Given the description of an element on the screen output the (x, y) to click on. 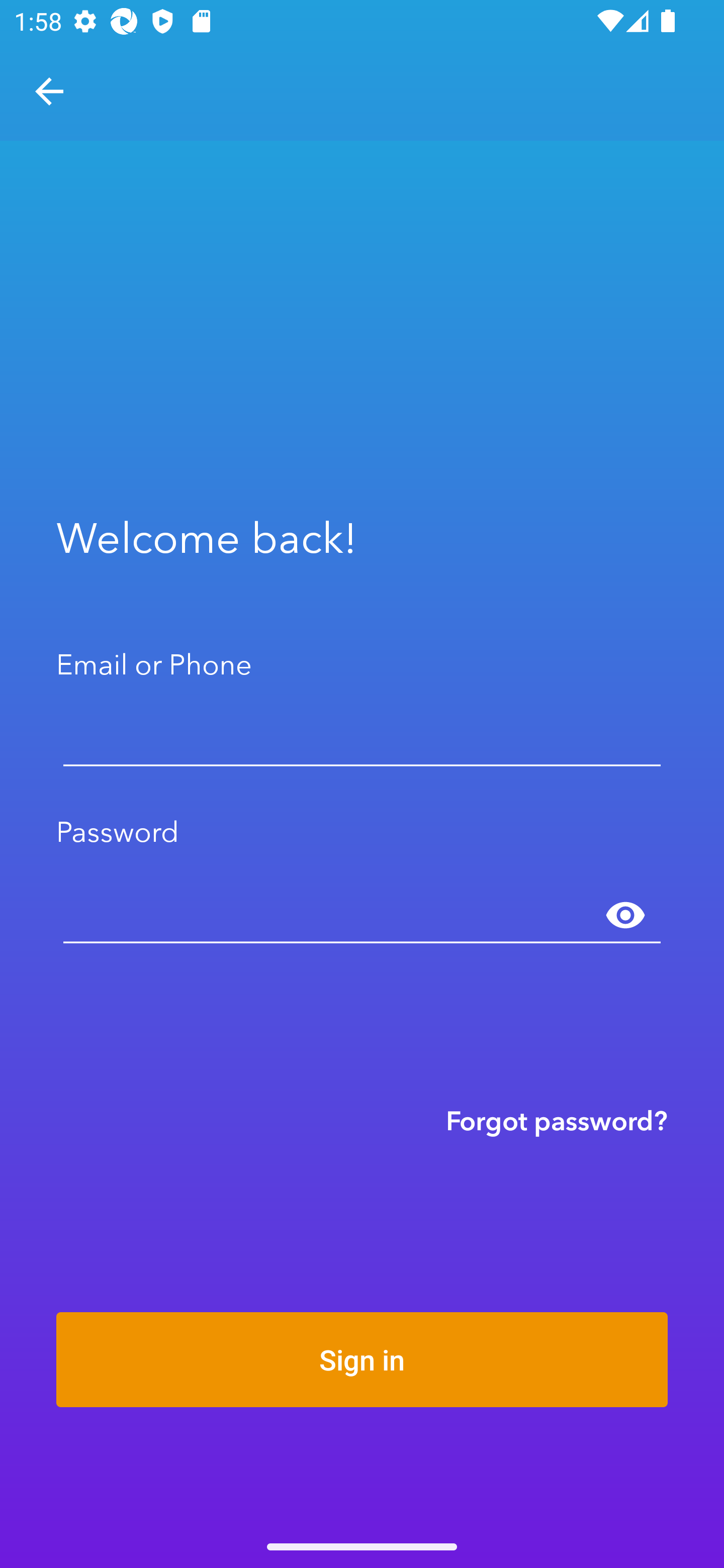
Navigate up (49, 91)
Show password (625, 915)
Forgot password? (556, 1119)
Sign in (361, 1359)
